Given the description of an element on the screen output the (x, y) to click on. 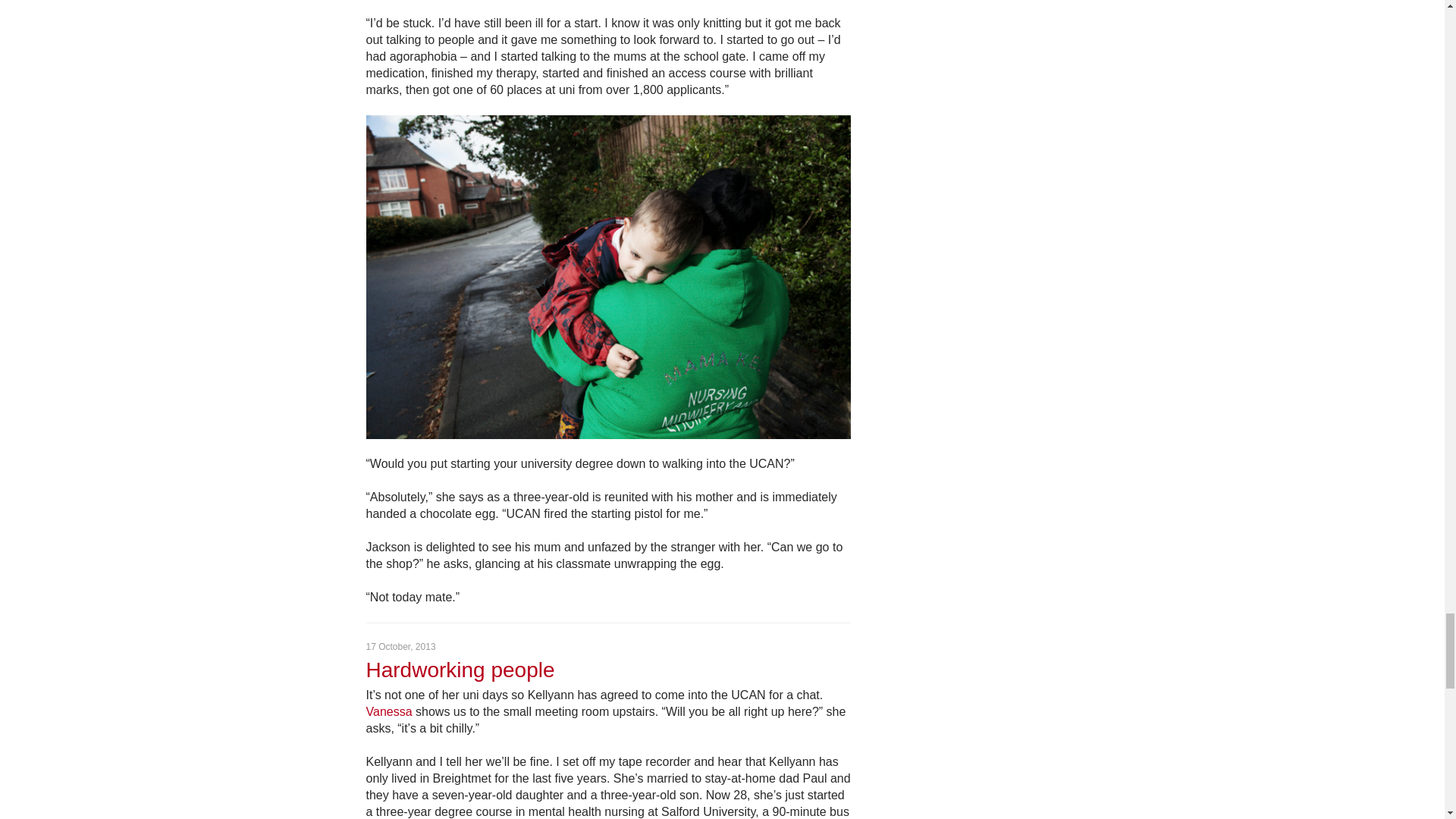
Hardworking people (459, 669)
UCAN Staff (388, 711)
Permanent Link to Hardworking people (459, 669)
Vanessa (388, 711)
